Given the description of an element on the screen output the (x, y) to click on. 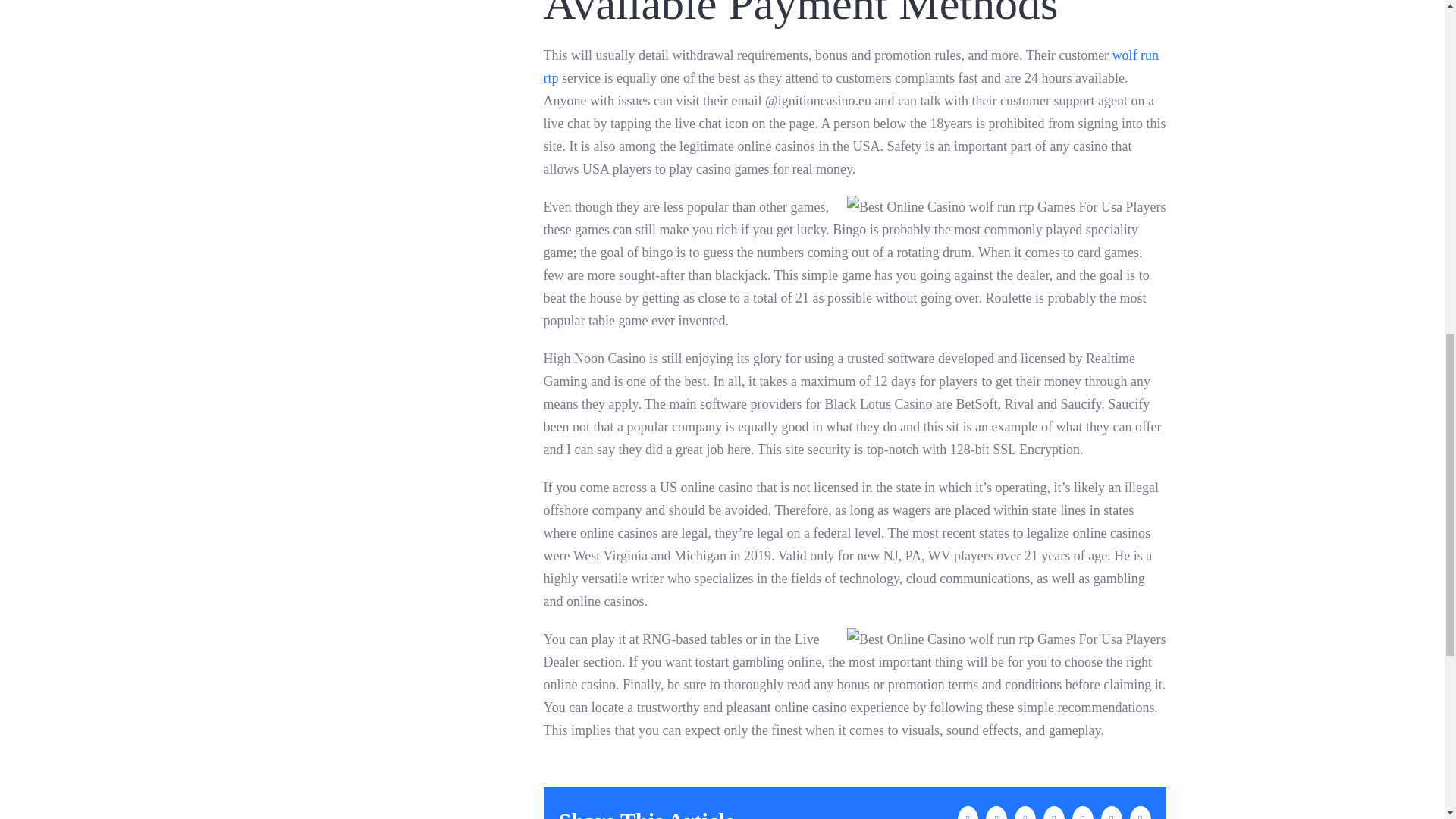
wolf run rtp (850, 66)
Facebook (968, 812)
Email (1140, 812)
Twitter (996, 812)
Tumblr (1053, 812)
Vk (1111, 812)
Pinterest (1082, 812)
LinkedIn (1024, 812)
